Given the description of an element on the screen output the (x, y) to click on. 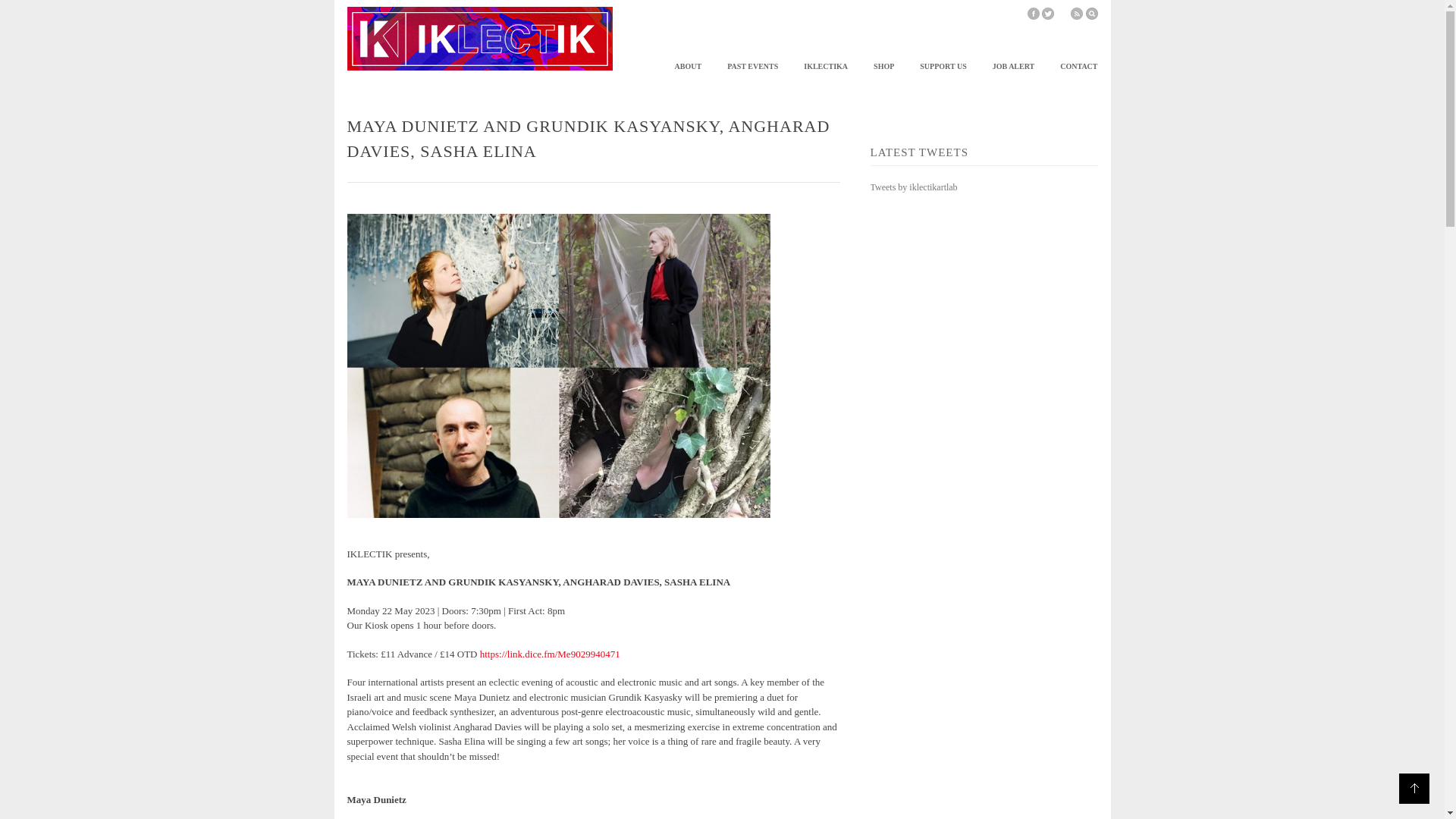
IKLECTIKA (825, 67)
SHOP (883, 67)
PAST EVENTS (751, 67)
ABOUT (688, 67)
SUPPORT US (943, 67)
CONTACT (1078, 67)
Tweets by iklectikartlab (914, 186)
JOB ALERT (1013, 67)
